Given the description of an element on the screen output the (x, y) to click on. 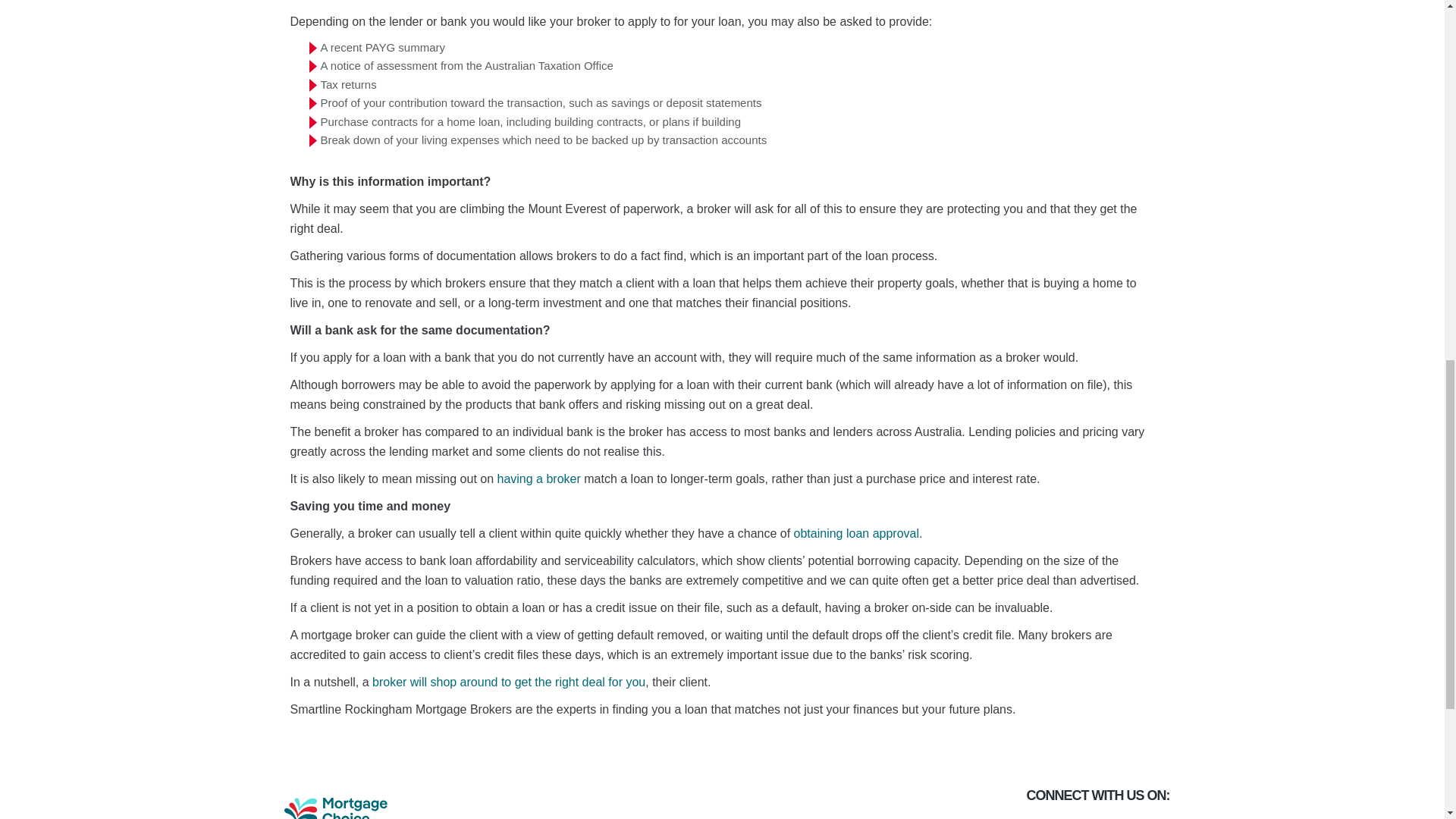
broker will shop around to get the right deal for you (508, 681)
having a broker (538, 478)
obtaining loan approval (855, 533)
